Given the description of an element on the screen output the (x, y) to click on. 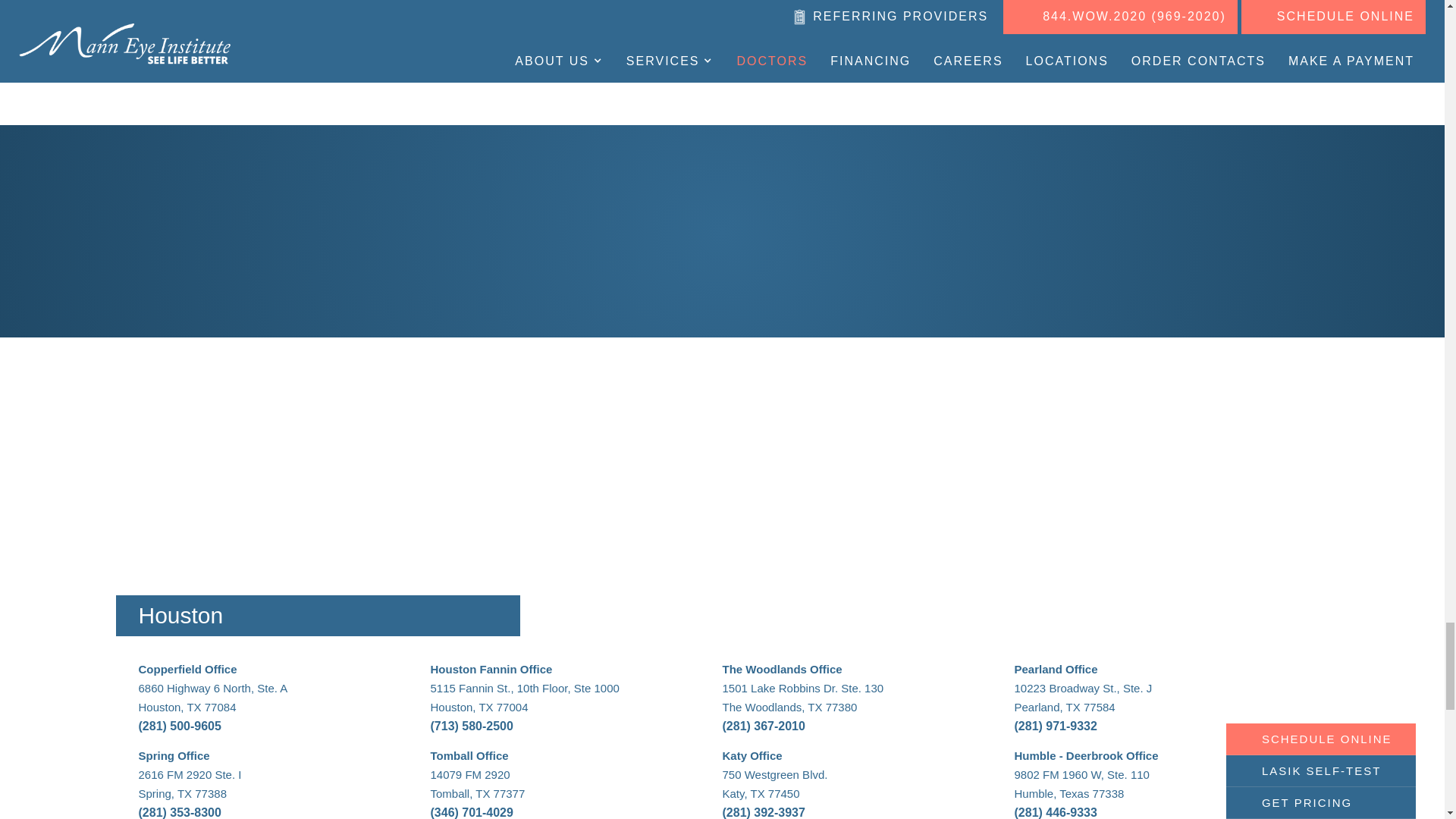
Reviews Star Widget (721, 229)
